Given the description of an element on the screen output the (x, y) to click on. 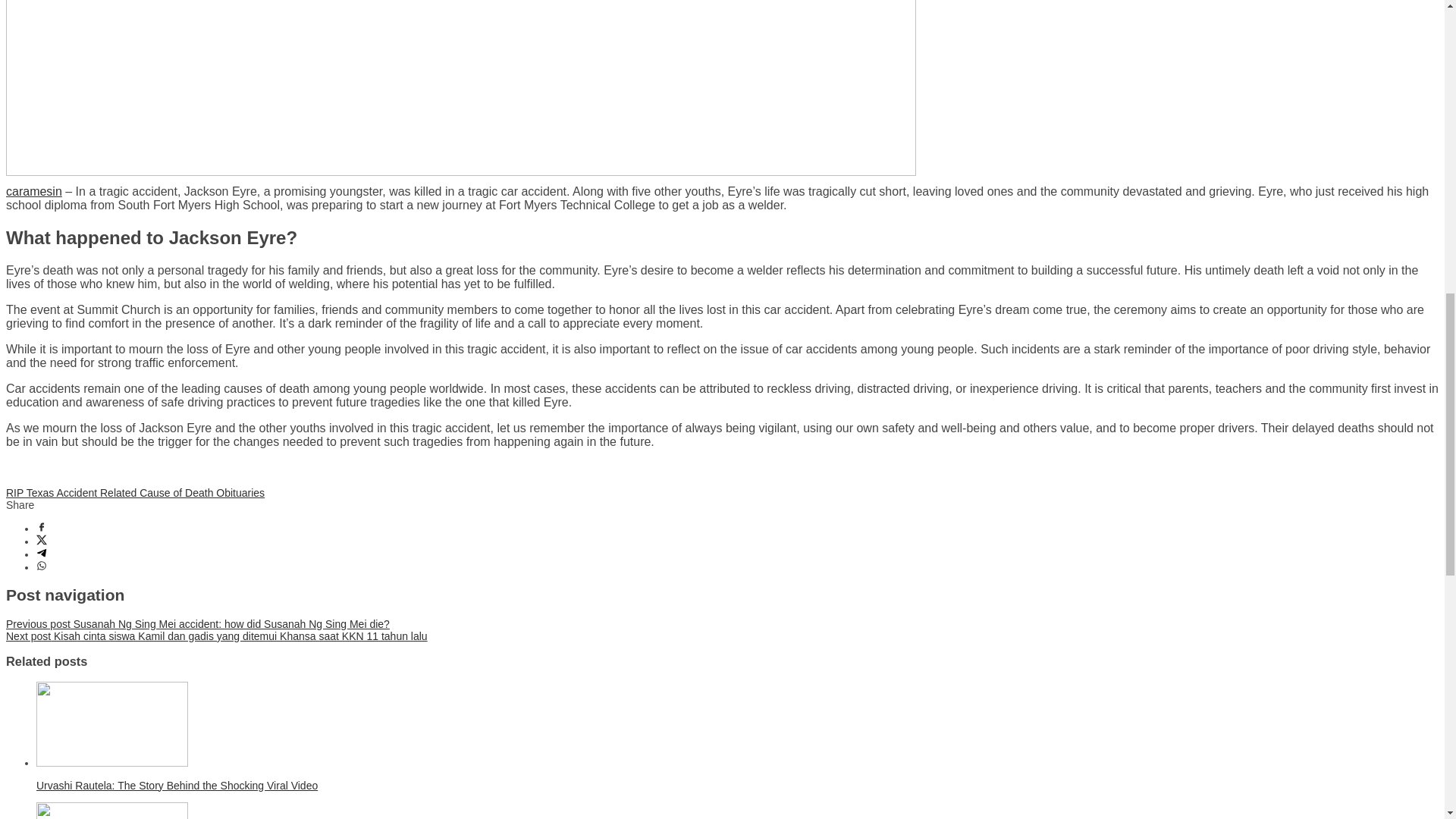
RIP Texas Accident Related Cause of Death Obituaries (134, 492)
caramesin (33, 191)
